Given the description of an element on the screen output the (x, y) to click on. 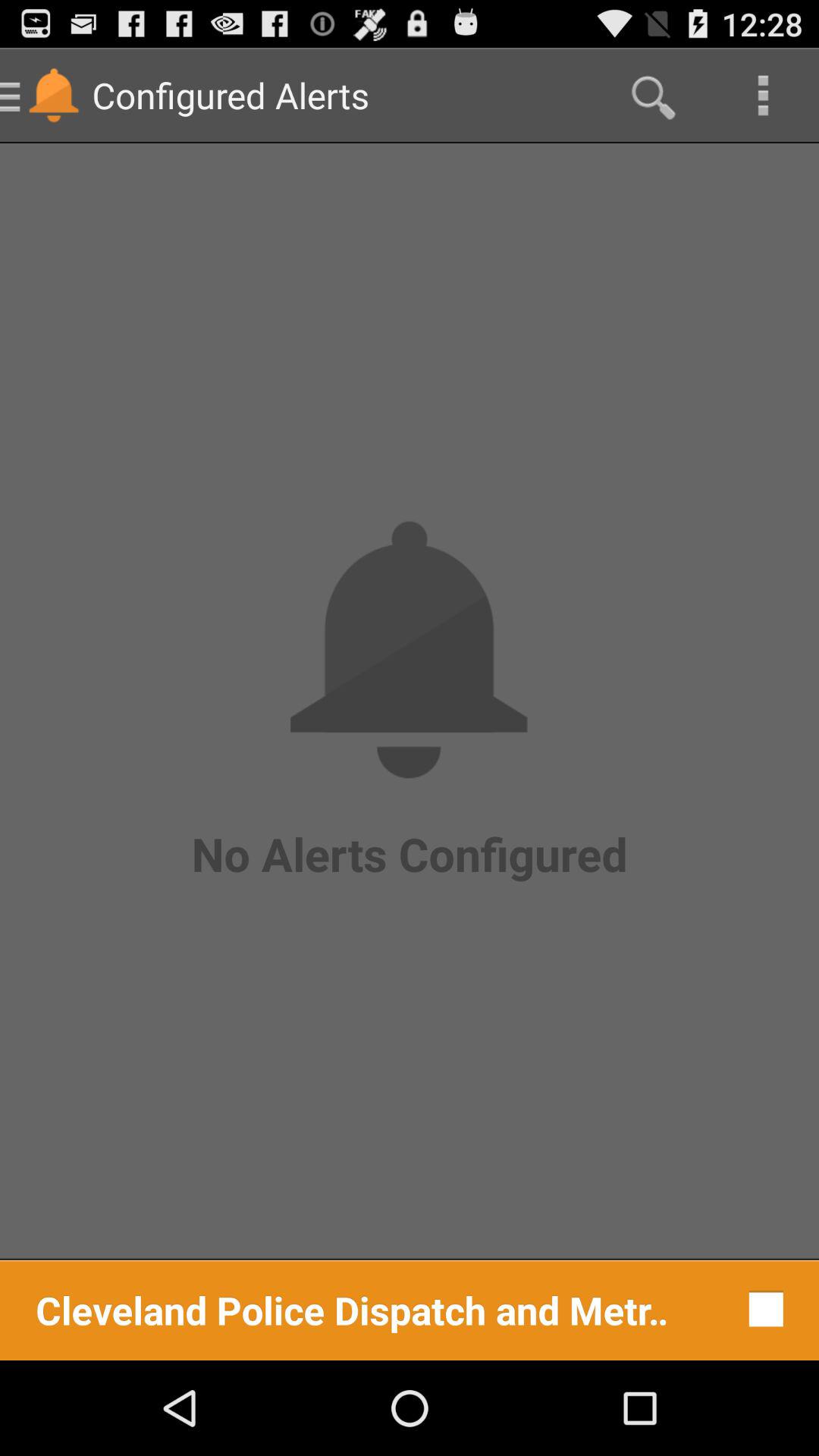
open icon next to cleveland police dispatch icon (762, 1309)
